Given the description of an element on the screen output the (x, y) to click on. 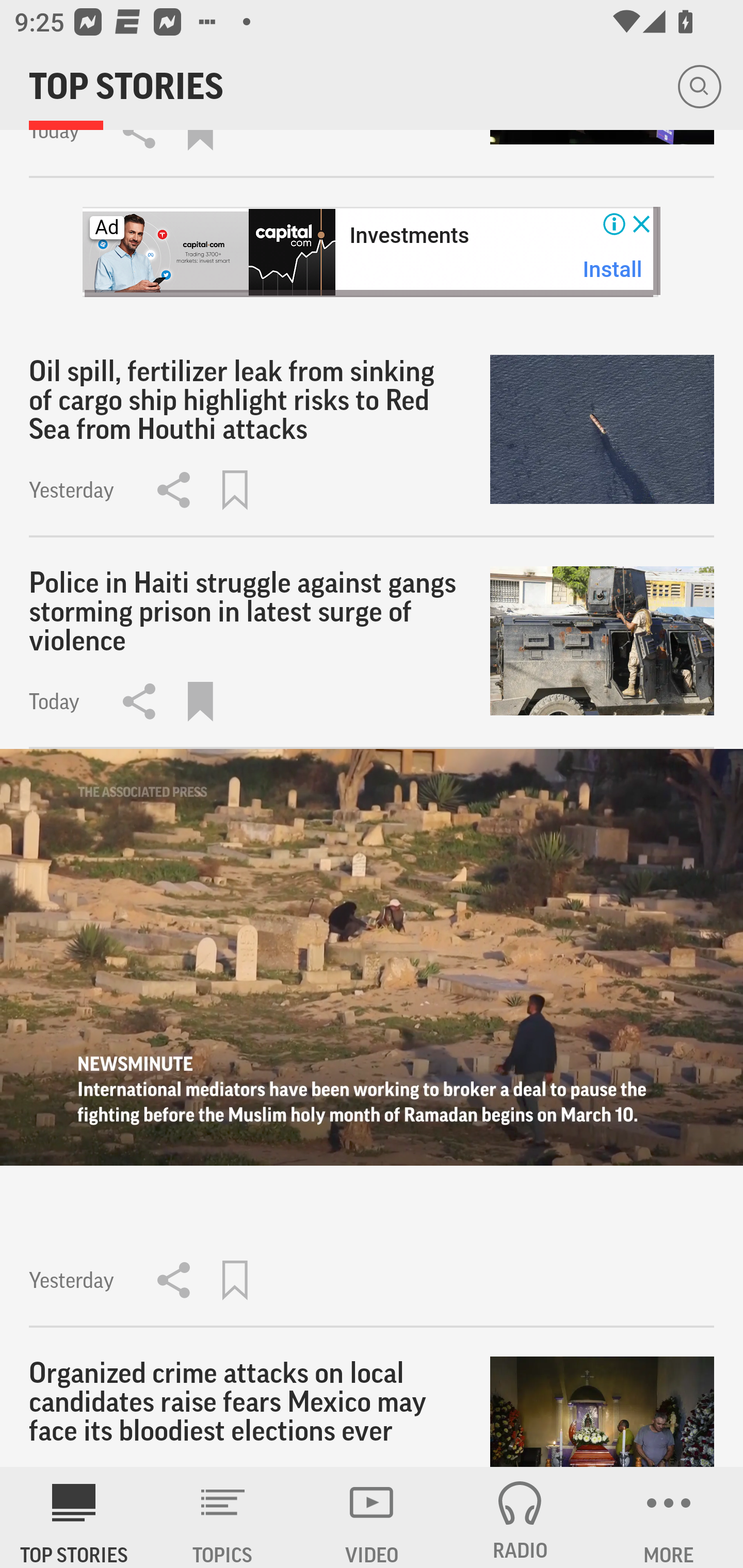
Investments (408, 235)
Install (613, 269)
toggle controls Yesterday (371, 1038)
toggle controls (371, 957)
AP News TOP STORIES (74, 1517)
TOPICS (222, 1517)
VIDEO (371, 1517)
RADIO (519, 1517)
MORE (668, 1517)
